Given the description of an element on the screen output the (x, y) to click on. 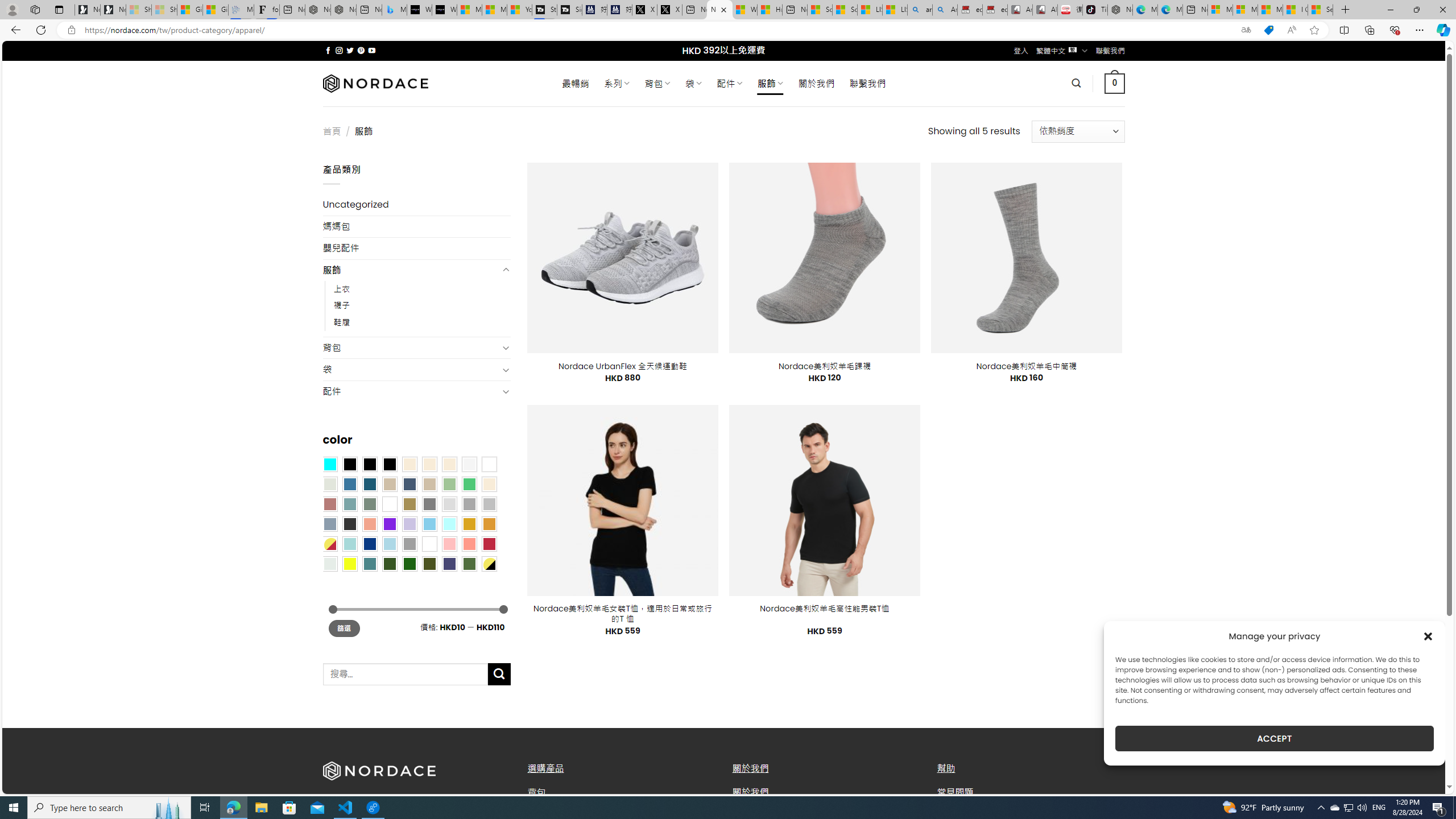
TikTok (1094, 9)
Follow on Twitter (349, 50)
Streaming Coverage | T3 (544, 9)
